Given the description of an element on the screen output the (x, y) to click on. 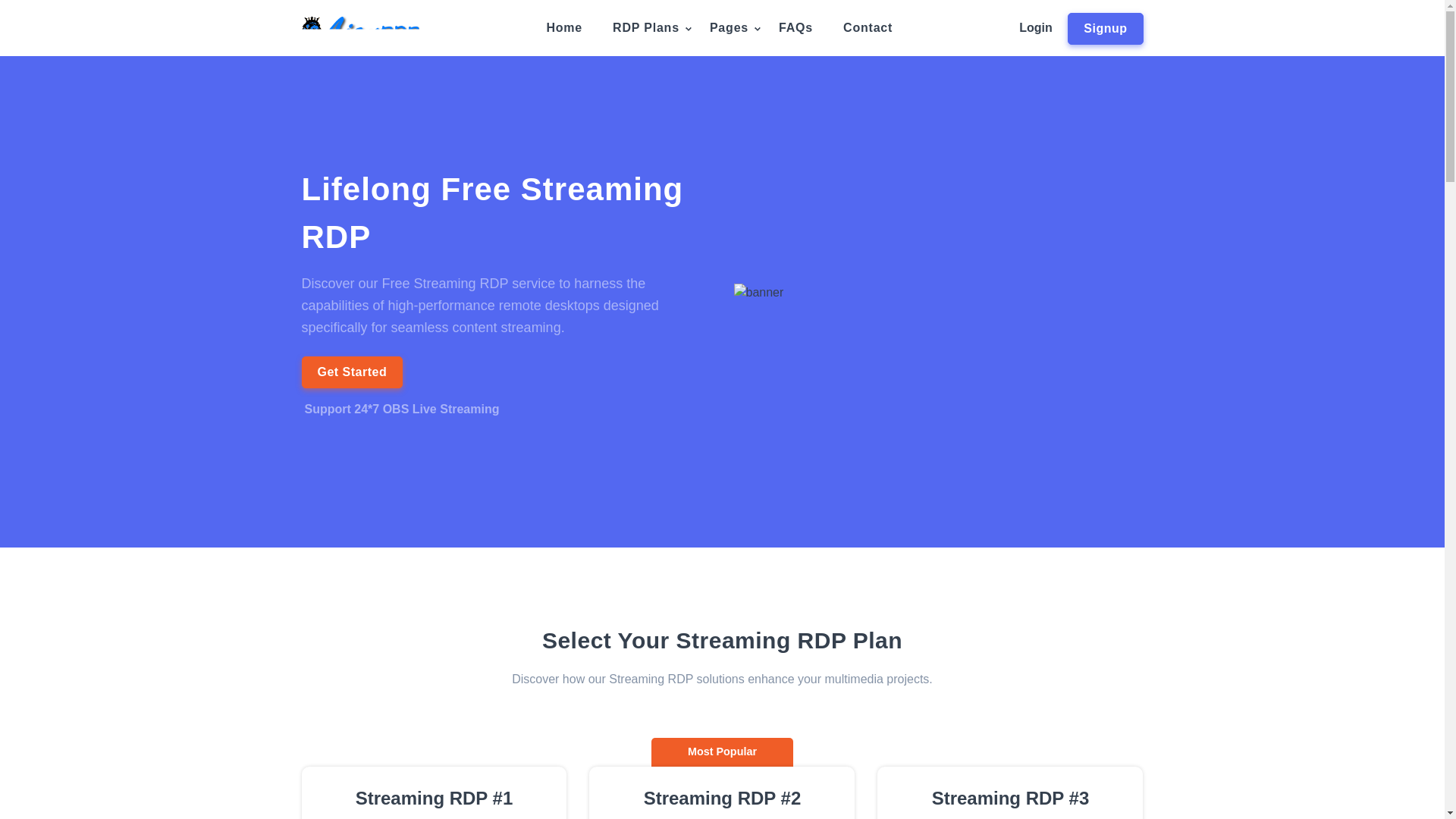
Get Started (352, 372)
Login (1035, 27)
Contact (867, 28)
Pages (728, 28)
RDP Plans (646, 28)
Signup (1104, 29)
Home (563, 28)
